Given the description of an element on the screen output the (x, y) to click on. 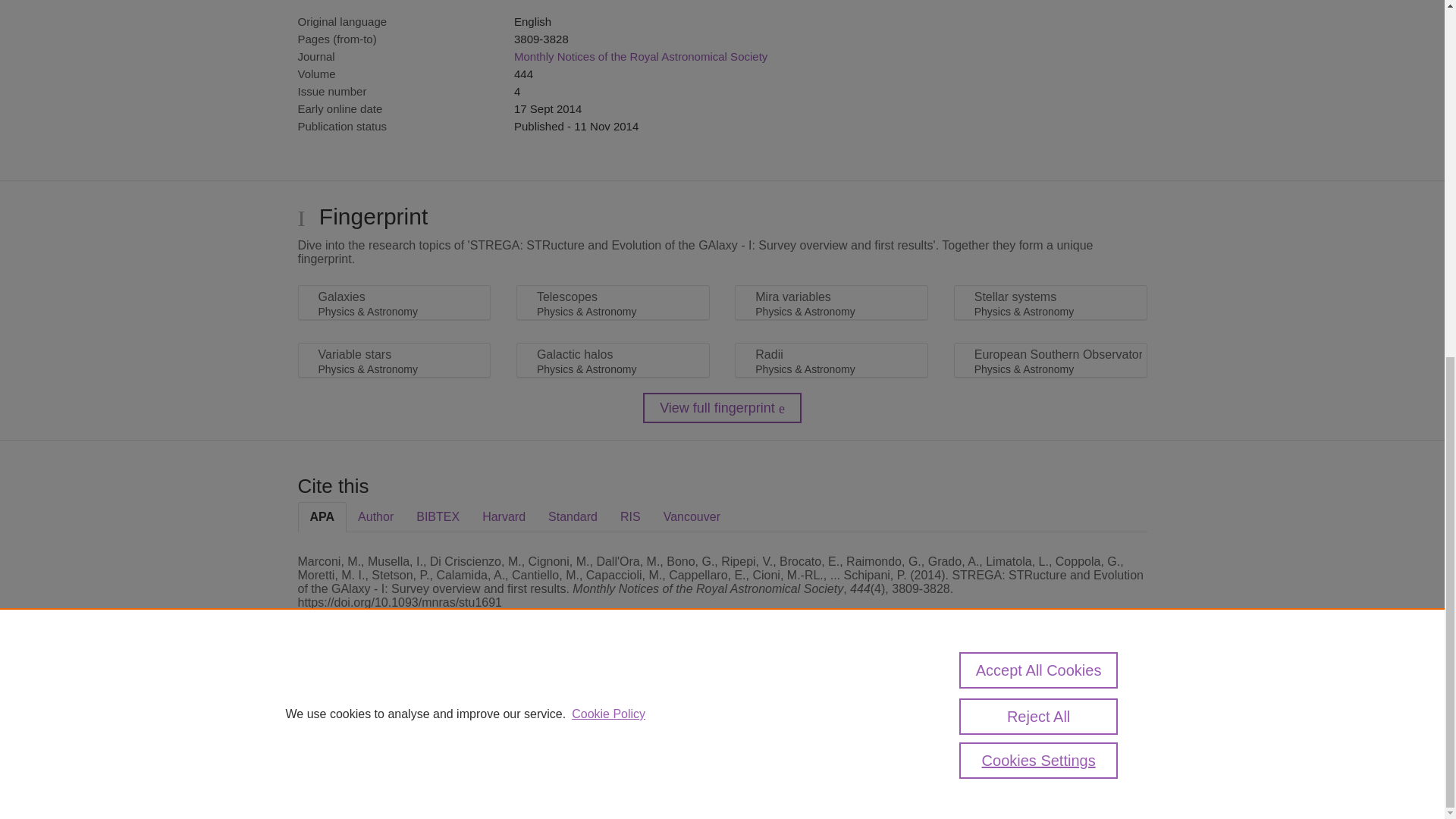
View full fingerprint (722, 408)
About web accessibility (1020, 713)
Contact us (1122, 713)
Monthly Notices of the Royal Astronomical Society (640, 56)
Cookie Policy (608, 84)
Report vulnerability (1020, 745)
Pure (362, 708)
Scopus (394, 708)
use of cookies (796, 760)
Cookies Settings (334, 781)
Elsevier B.V. (506, 728)
Cookies Settings (1038, 131)
